Given the description of an element on the screen output the (x, y) to click on. 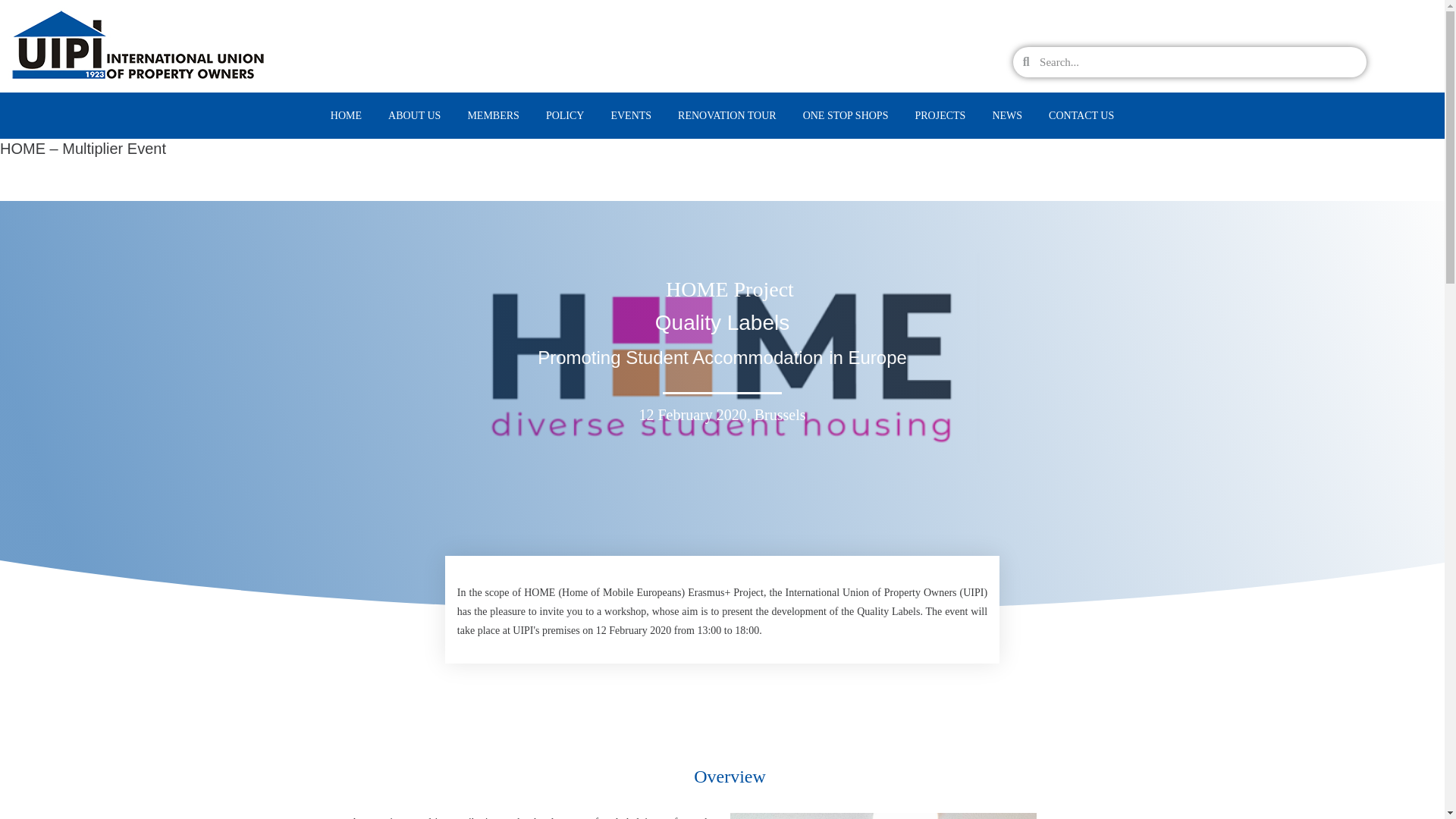
RENOVATION TOUR (727, 115)
POLICY (565, 115)
PROJECTS (939, 115)
Search (1198, 61)
ABOUT US (414, 115)
HOME (345, 115)
EVENTS (630, 115)
ONE STOP SHOPS (845, 115)
